Given the description of an element on the screen output the (x, y) to click on. 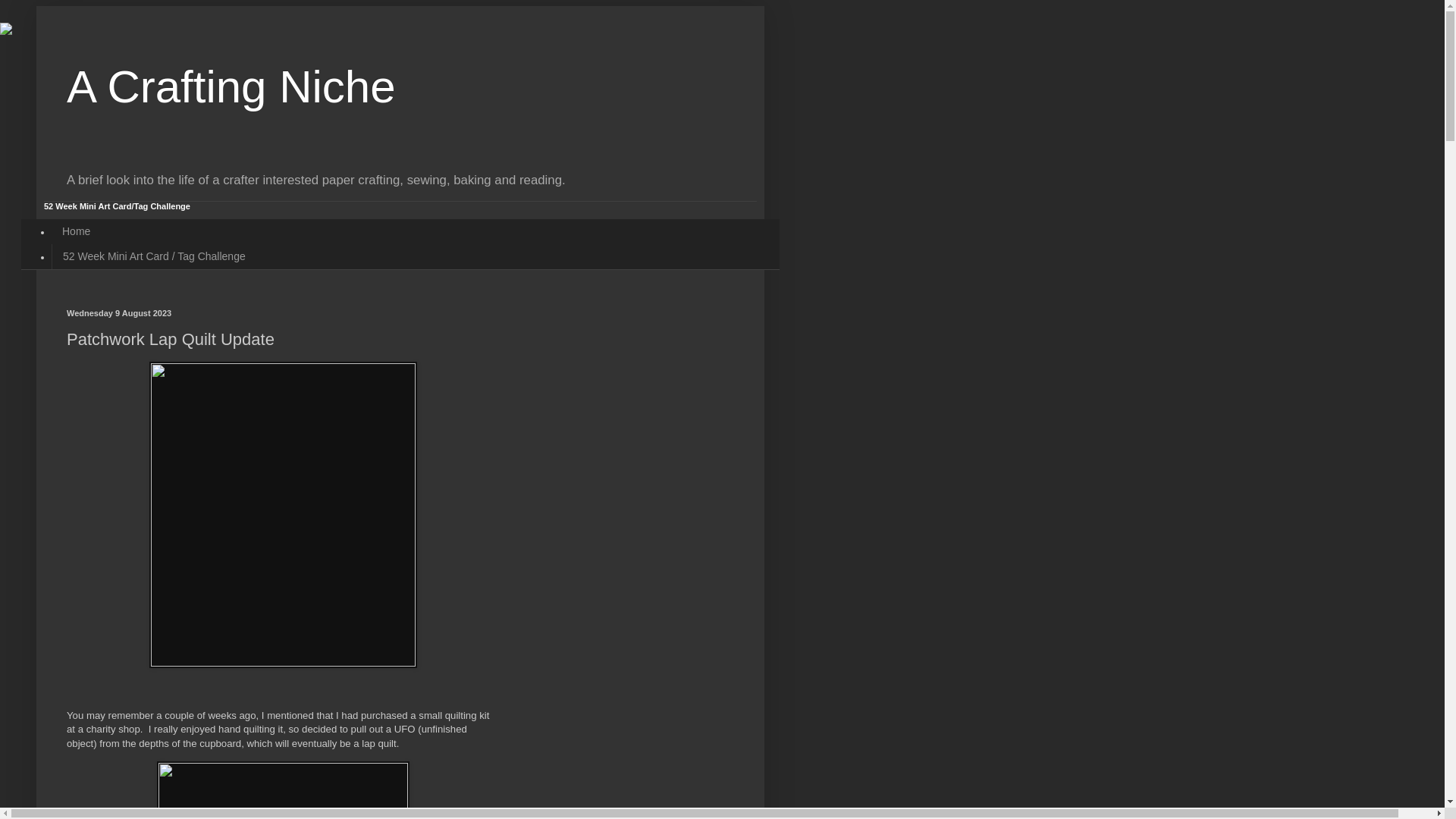
A Crafting Niche (231, 86)
Home (75, 231)
